Given the description of an element on the screen output the (x, y) to click on. 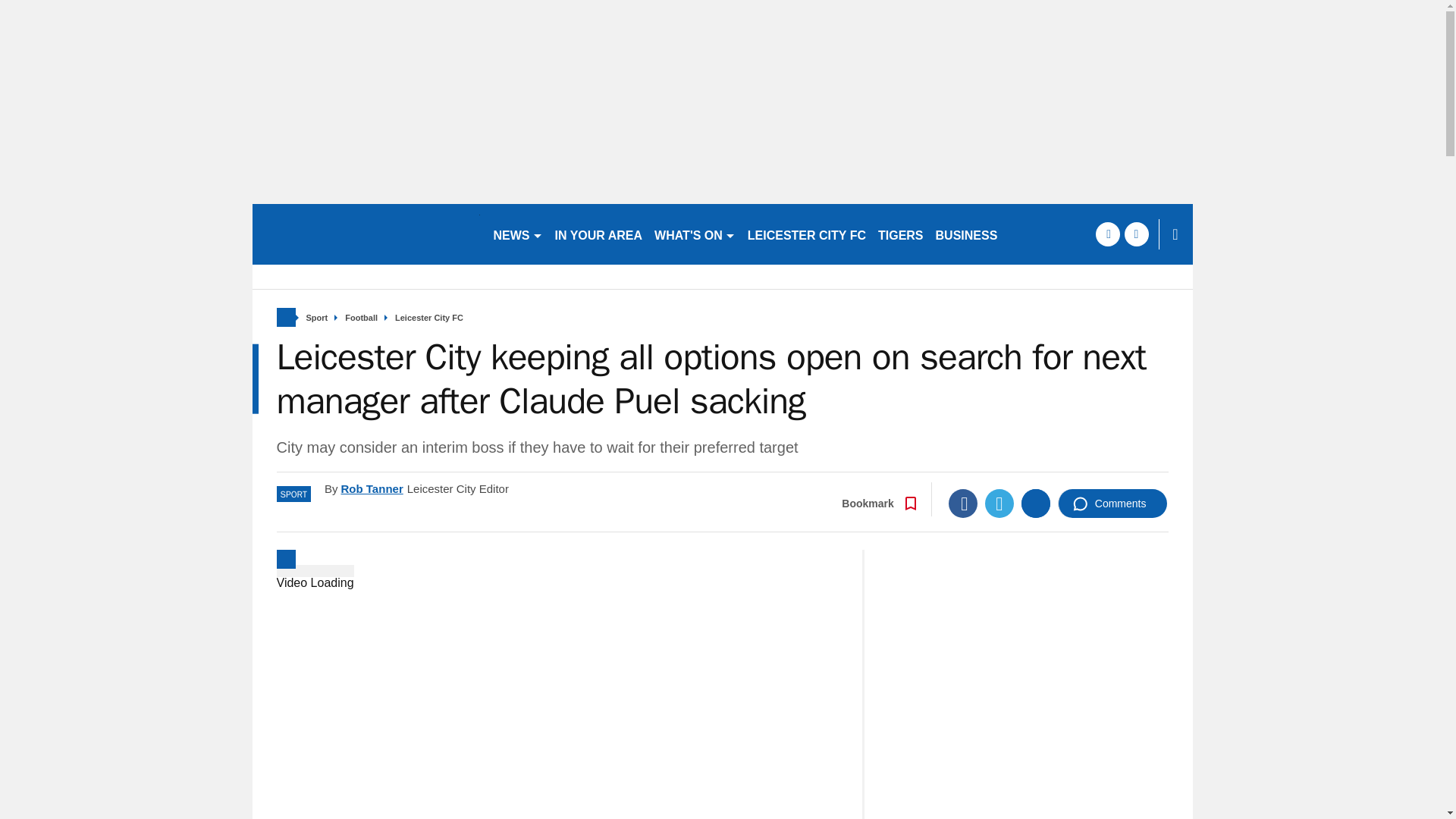
Comments (1112, 502)
LEICESTER CITY FC (806, 233)
Twitter (999, 502)
facebook (1106, 233)
NEWS (517, 233)
BUSINESS (967, 233)
IN YOUR AREA (598, 233)
WHAT'S ON (694, 233)
Facebook (962, 502)
TIGERS (901, 233)
twitter (1136, 233)
leicestermercury (365, 233)
